Given the description of an element on the screen output the (x, y) to click on. 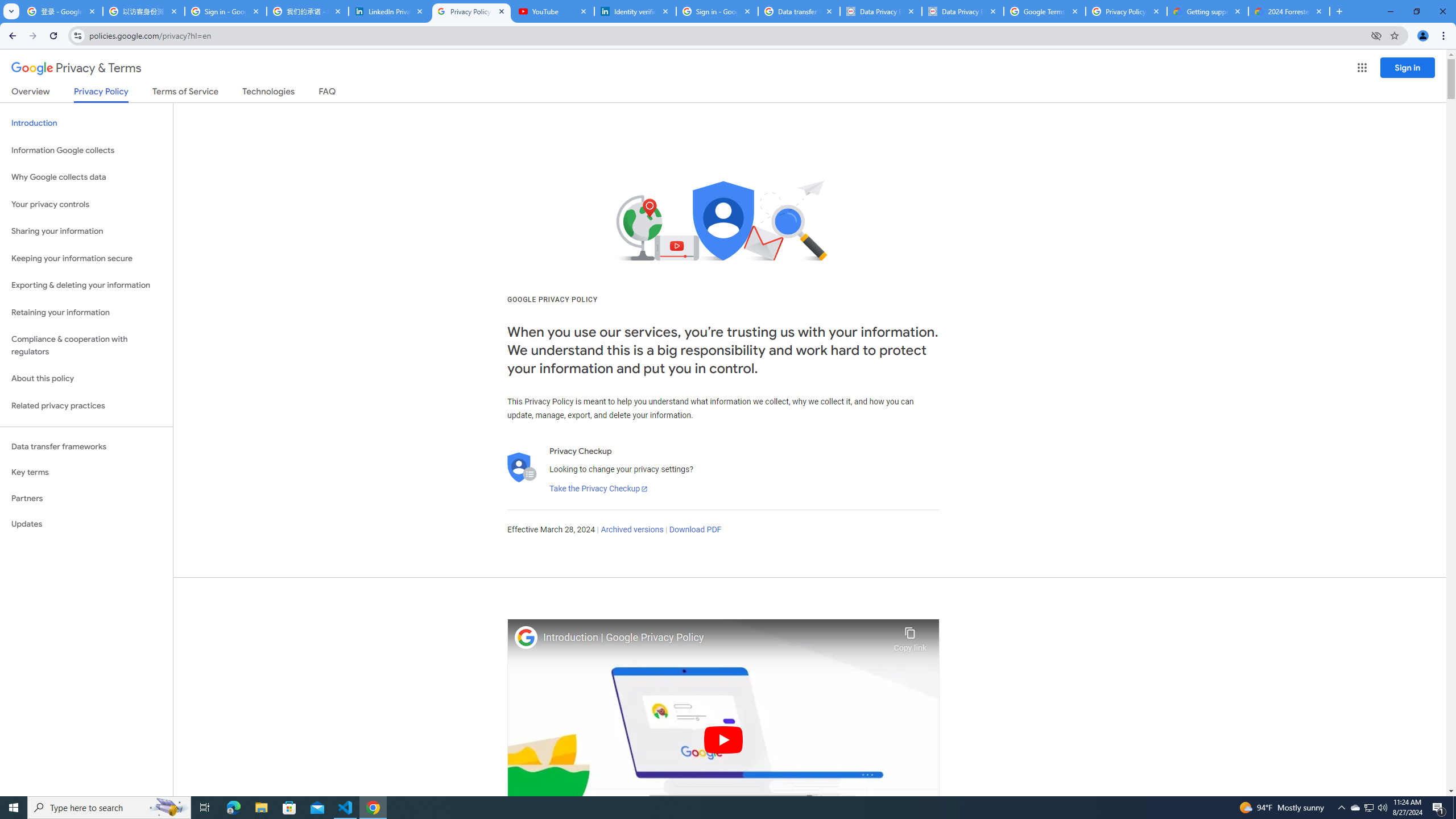
Sign in - Google Accounts (225, 11)
